Given the description of an element on the screen output the (x, y) to click on. 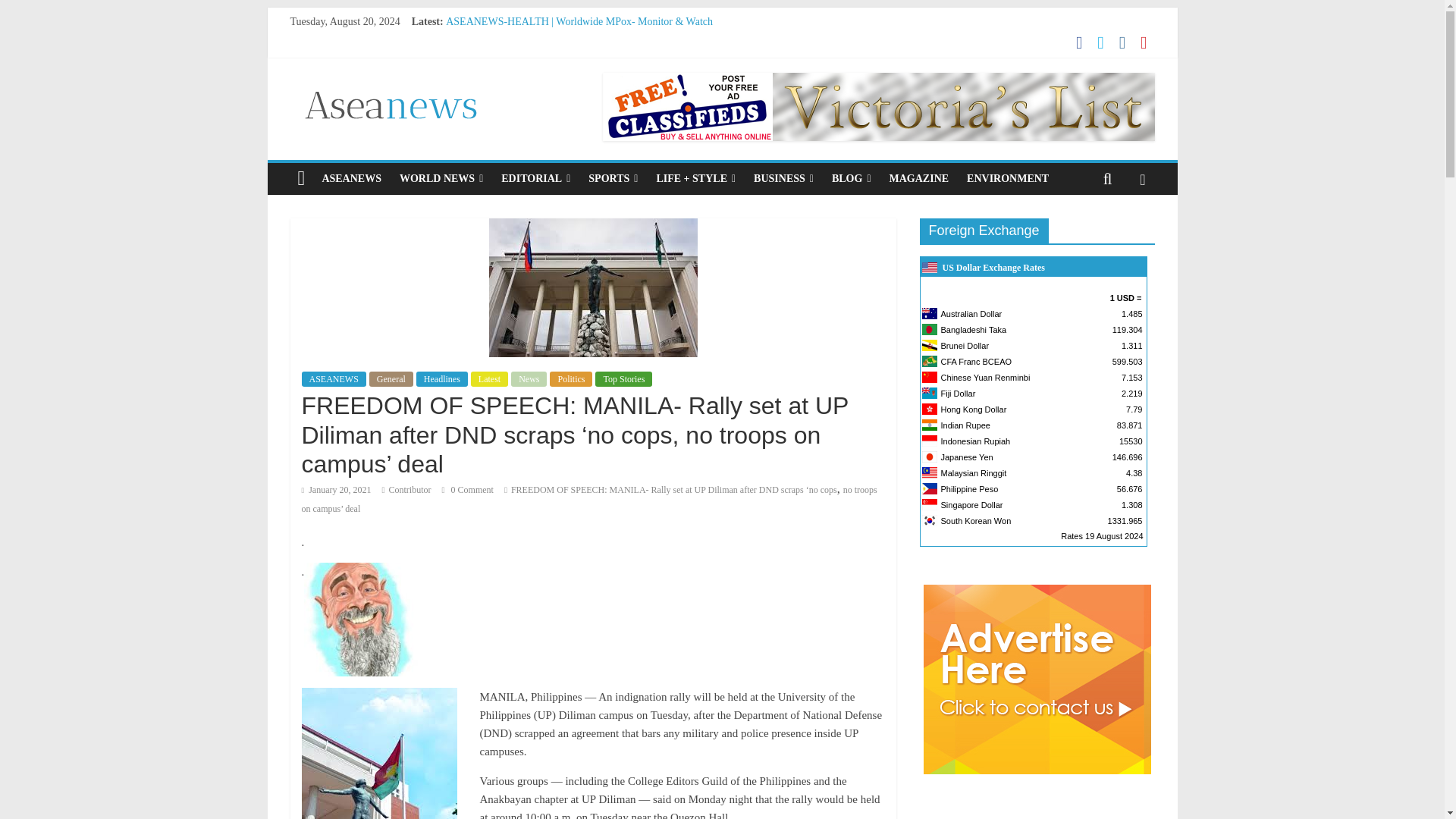
EDITORIAL (535, 178)
WORLD NEWS (441, 178)
Ano Ba Talaga Kuya? Is He a Xi Jinping Body Double? (564, 55)
SPORTS (612, 178)
1:02 am (336, 489)
Contributor (409, 489)
ASEANEWS (351, 178)
Ano Ba Talaga Kuya? Is He a Xi Jinping Body Double? (564, 55)
